Given the description of an element on the screen output the (x, y) to click on. 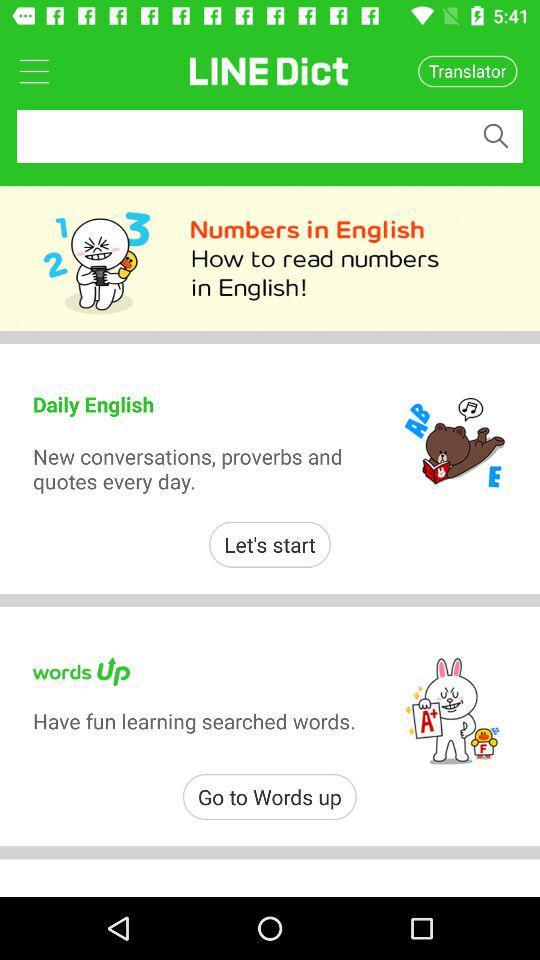
turn on the let's start (269, 544)
